Given the description of an element on the screen output the (x, y) to click on. 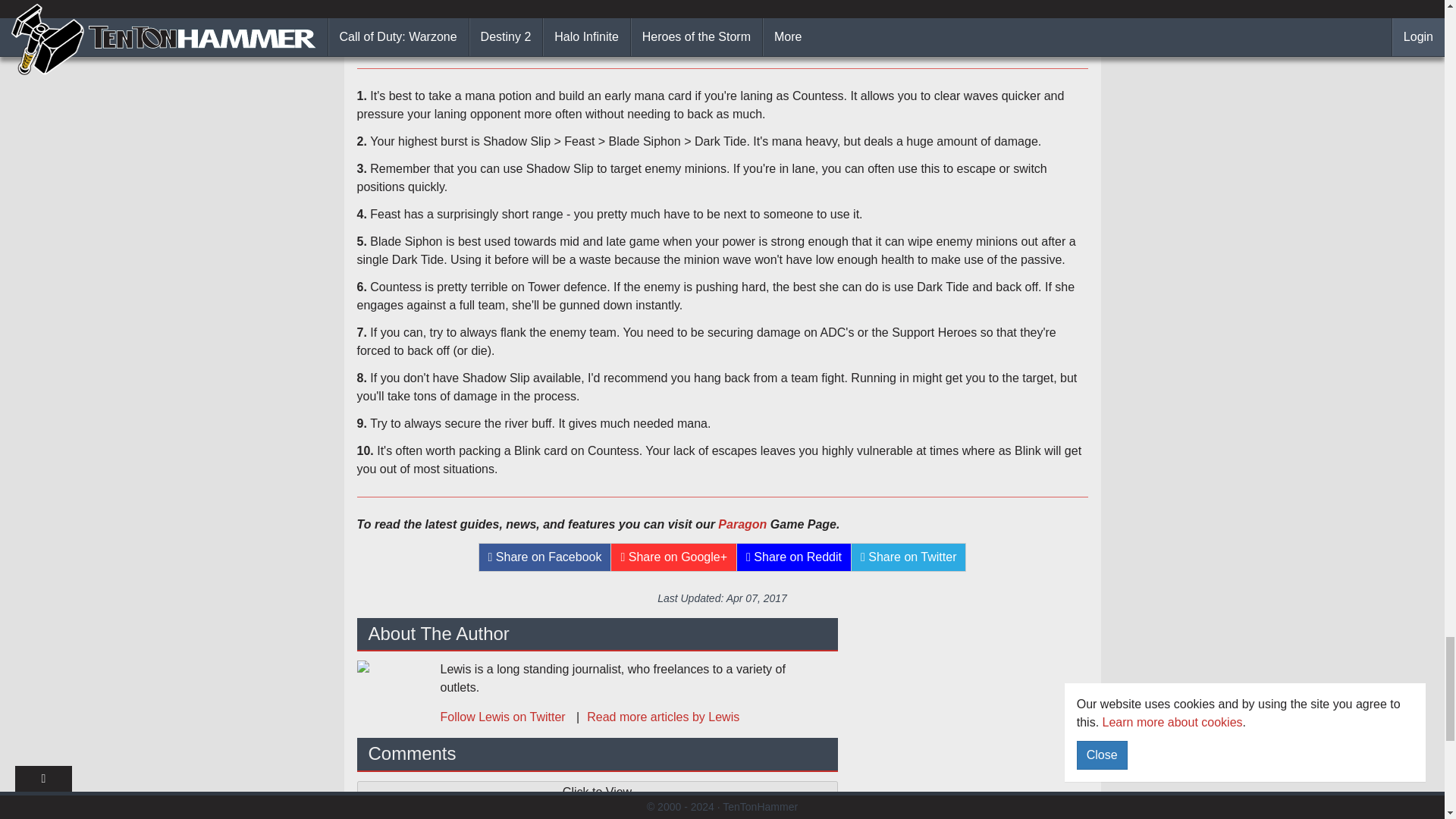
Follow Lewis on Twitter (504, 716)
Share on Twitter (908, 556)
Share on Reddit (793, 556)
Read more articles by Lewis (654, 716)
Share on Facebook (545, 556)
Click to View (596, 792)
Paragon (742, 523)
